Given the description of an element on the screen output the (x, y) to click on. 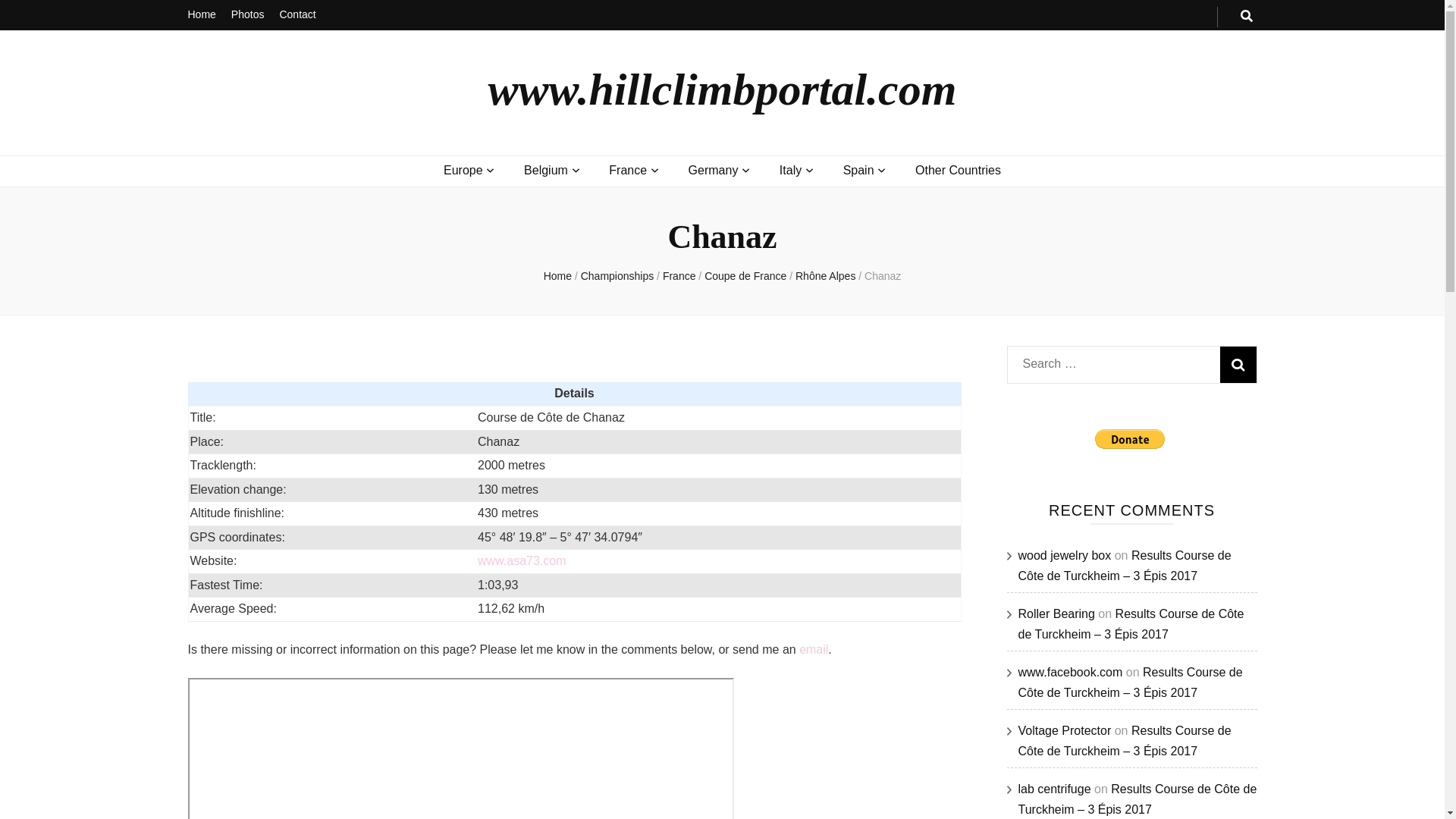
Photos (247, 15)
Home (201, 15)
Europe (463, 170)
Search (1237, 364)
Search (1237, 364)
France (627, 170)
Contact (297, 15)
www.hillclimbportal.com (721, 89)
Belgium (545, 170)
